Given the description of an element on the screen output the (x, y) to click on. 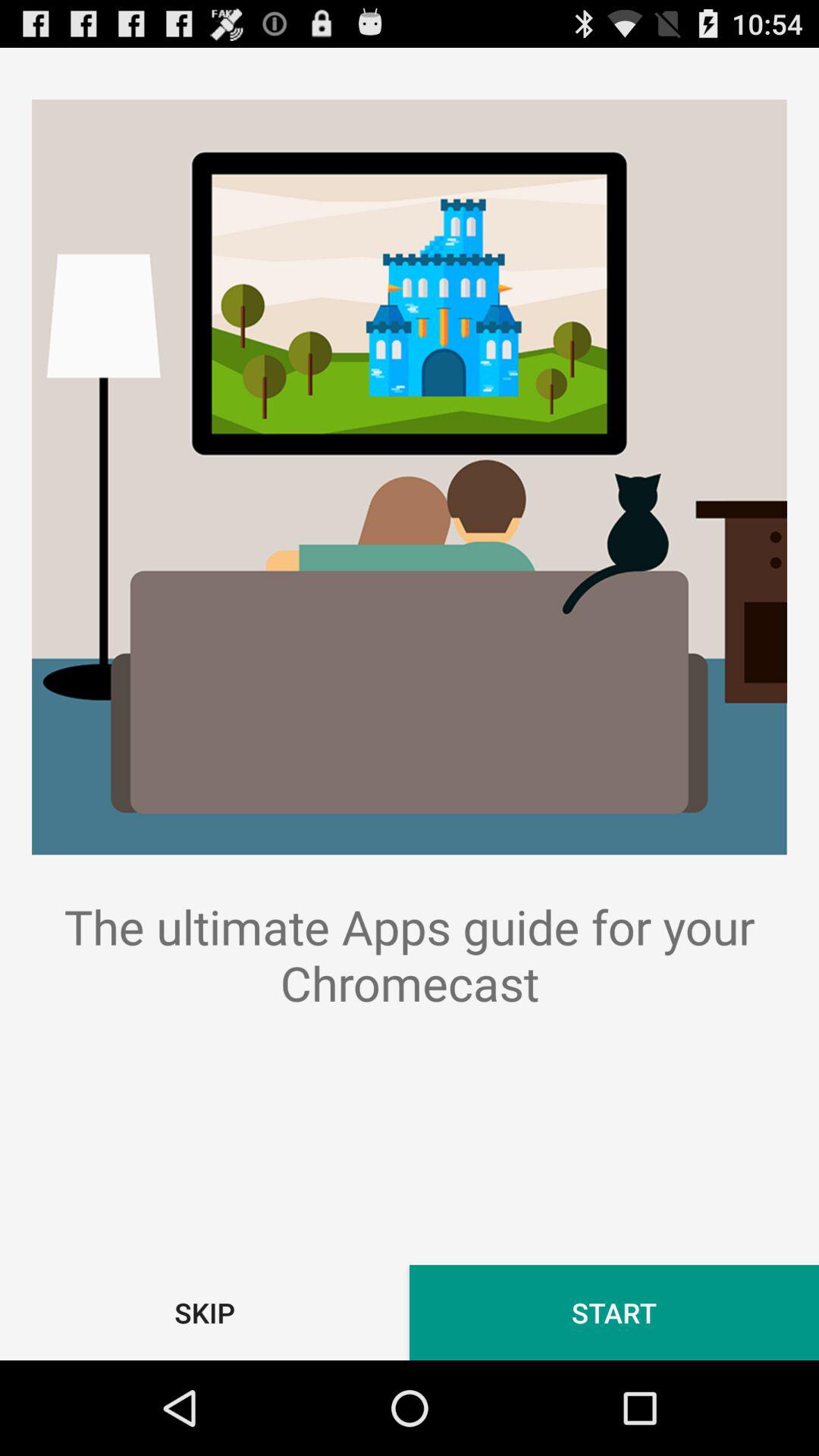
launch button to the left of start button (204, 1312)
